Given the description of an element on the screen output the (x, y) to click on. 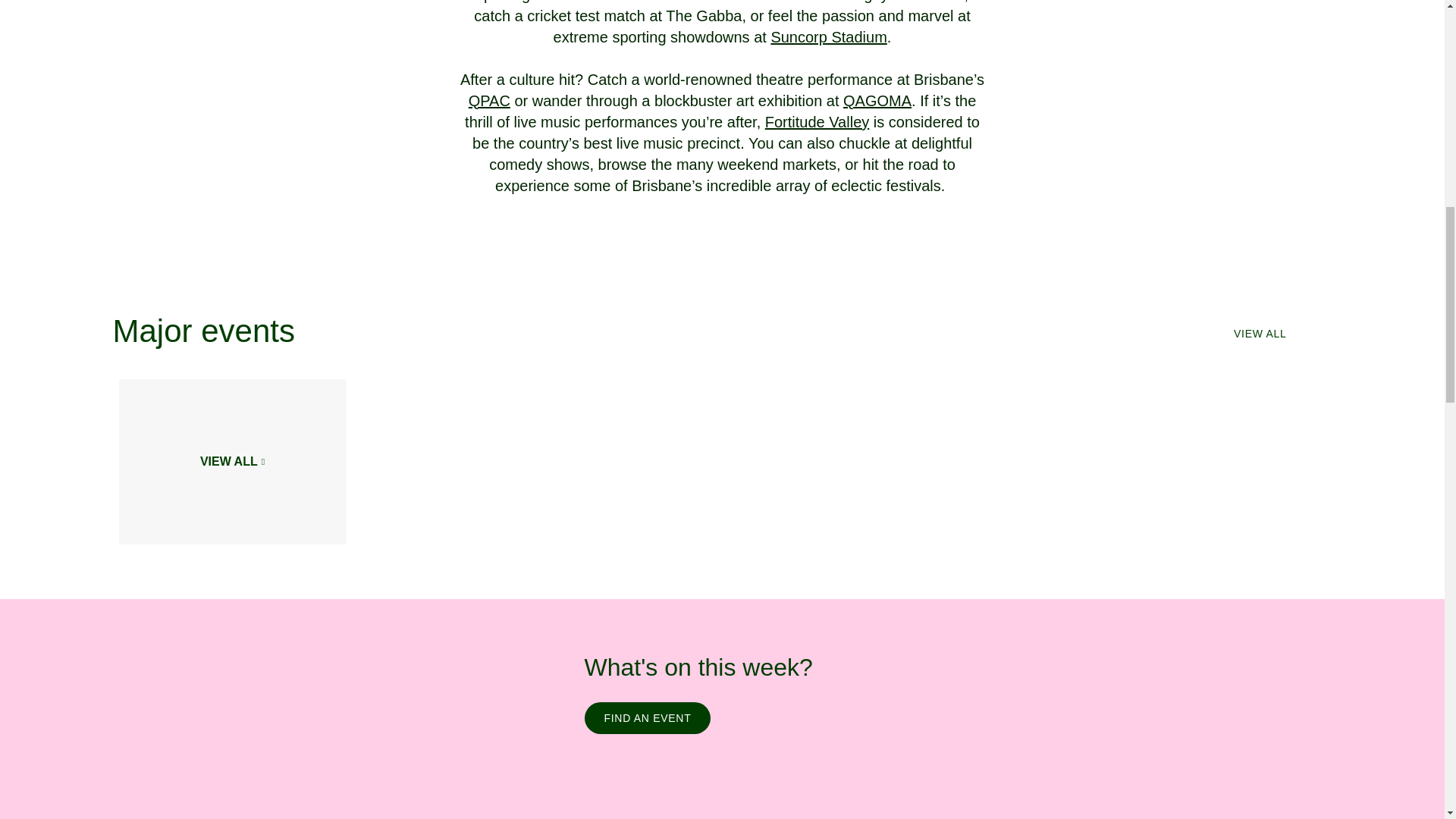
Suncorp Stadium (828, 36)
VIEW ALL (1259, 333)
Fortitude Valley (817, 121)
QAGOMA (877, 100)
VIEW ALL (231, 461)
FIND AN EVENT (646, 717)
QPAC (489, 100)
